Given the description of an element on the screen output the (x, y) to click on. 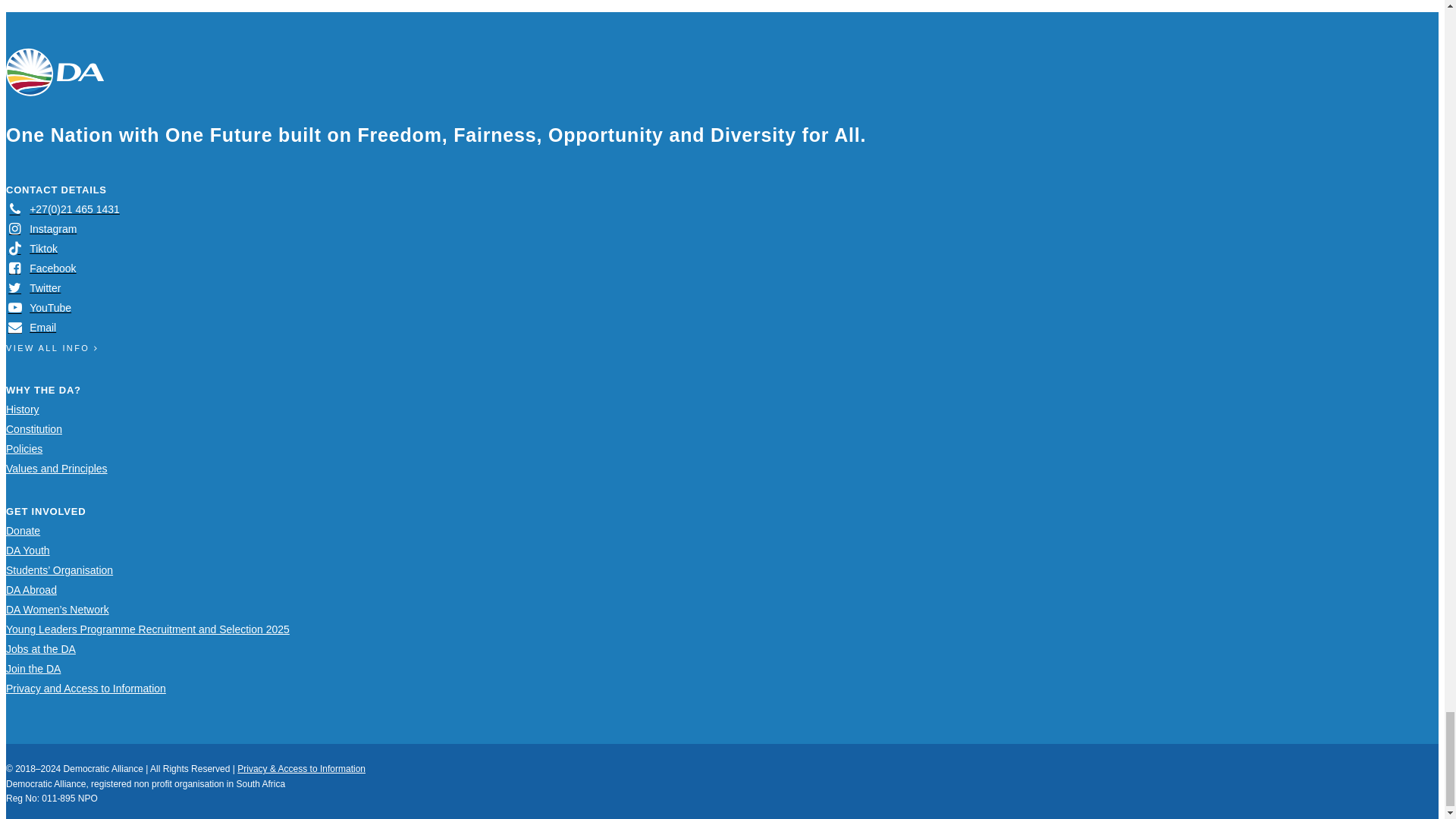
Democratic Alliance Logo (54, 72)
